Given the description of an element on the screen output the (x, y) to click on. 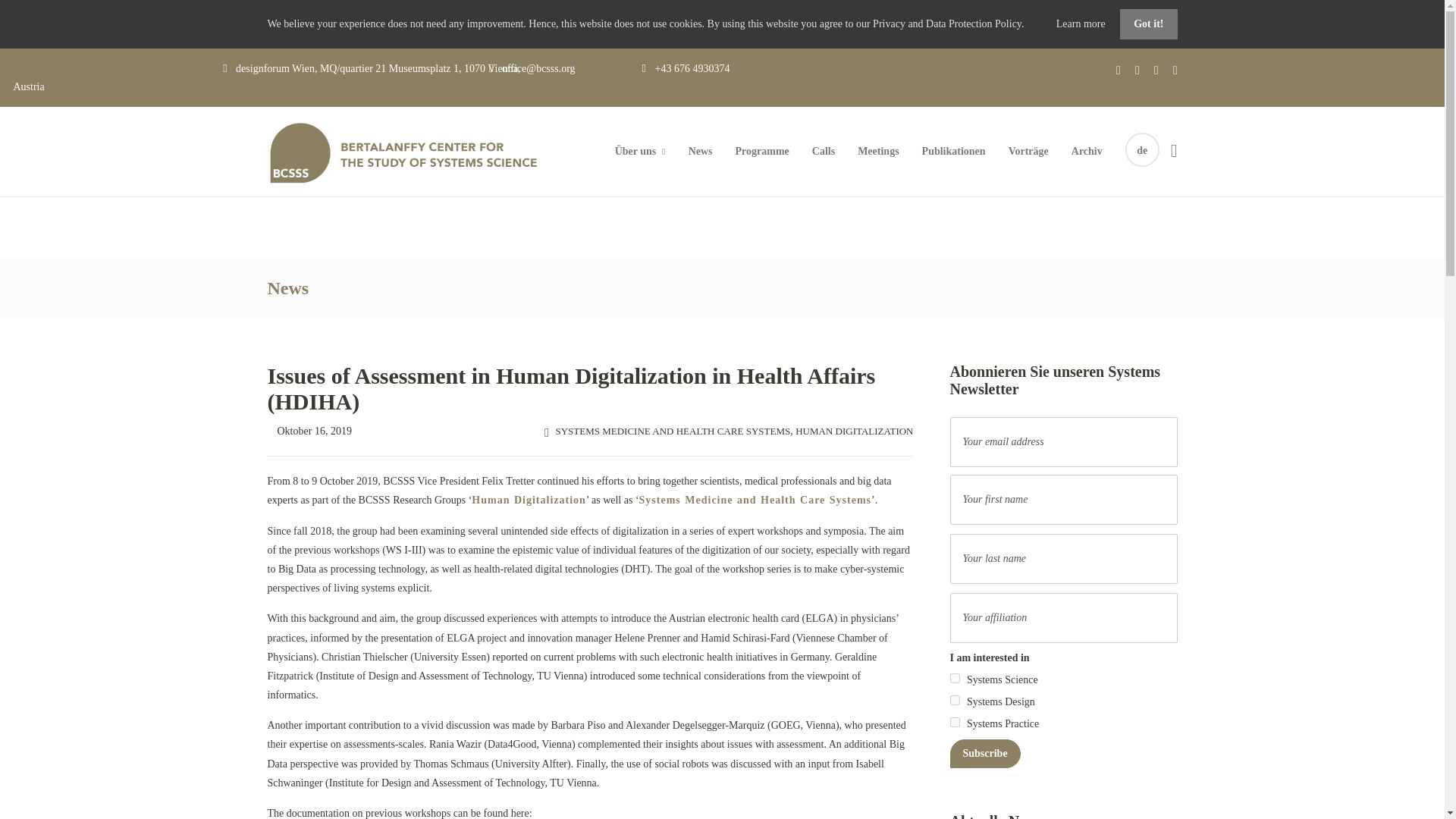
Privacy and Data Protection Policy (947, 23)
Got it! (1147, 24)
ac59af08a0 (954, 700)
Learn more (1082, 23)
Subscribe (984, 753)
35a1a864b1 (954, 678)
47e8933bb0 (954, 722)
